Given the description of an element on the screen output the (x, y) to click on. 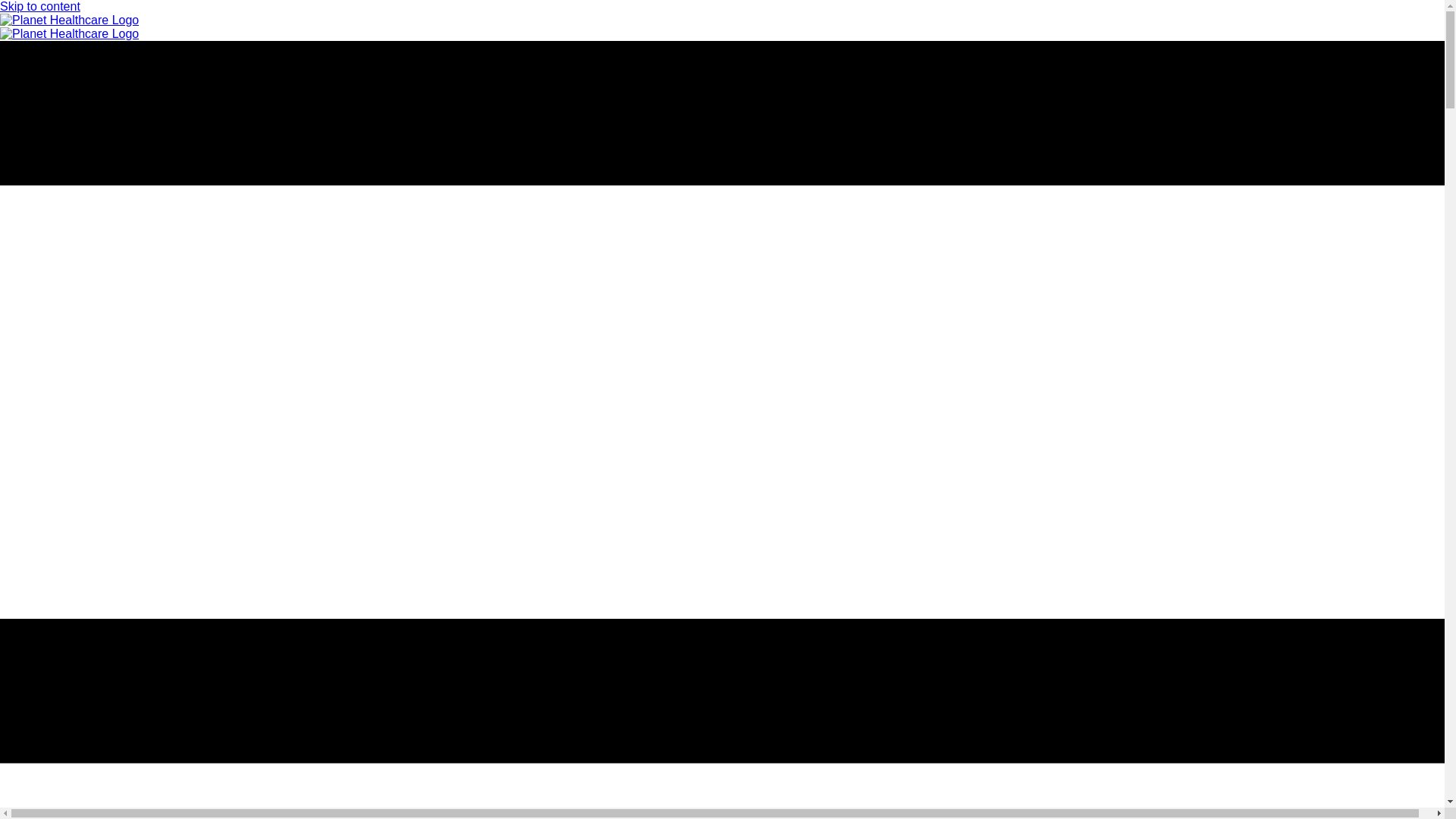
Skip to content (40, 6)
planet-healthcare-logo-white-transparent (69, 20)
planet-healthcare-logo-primary (69, 33)
